Given the description of an element on the screen output the (x, y) to click on. 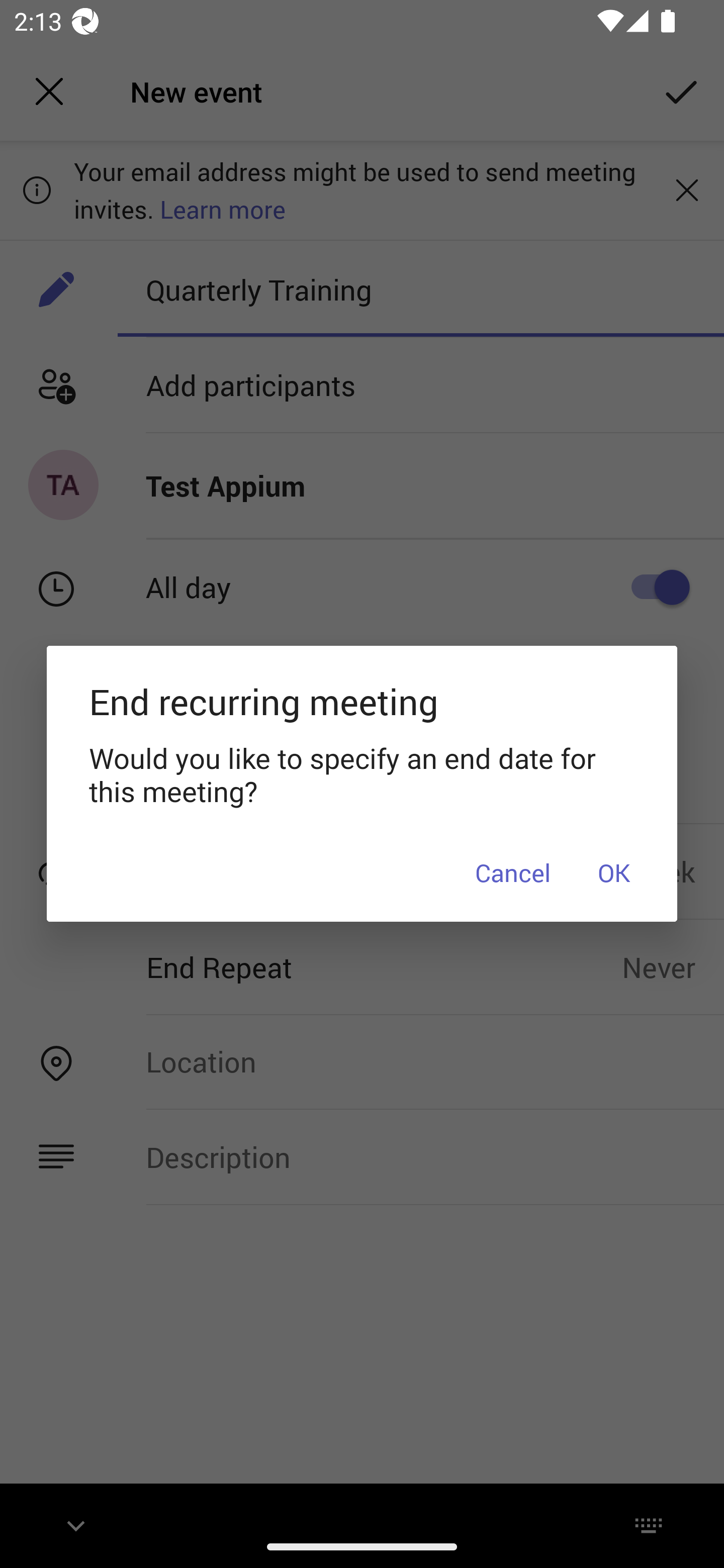
Cancel (512, 871)
OK (613, 871)
